Given the description of an element on the screen output the (x, y) to click on. 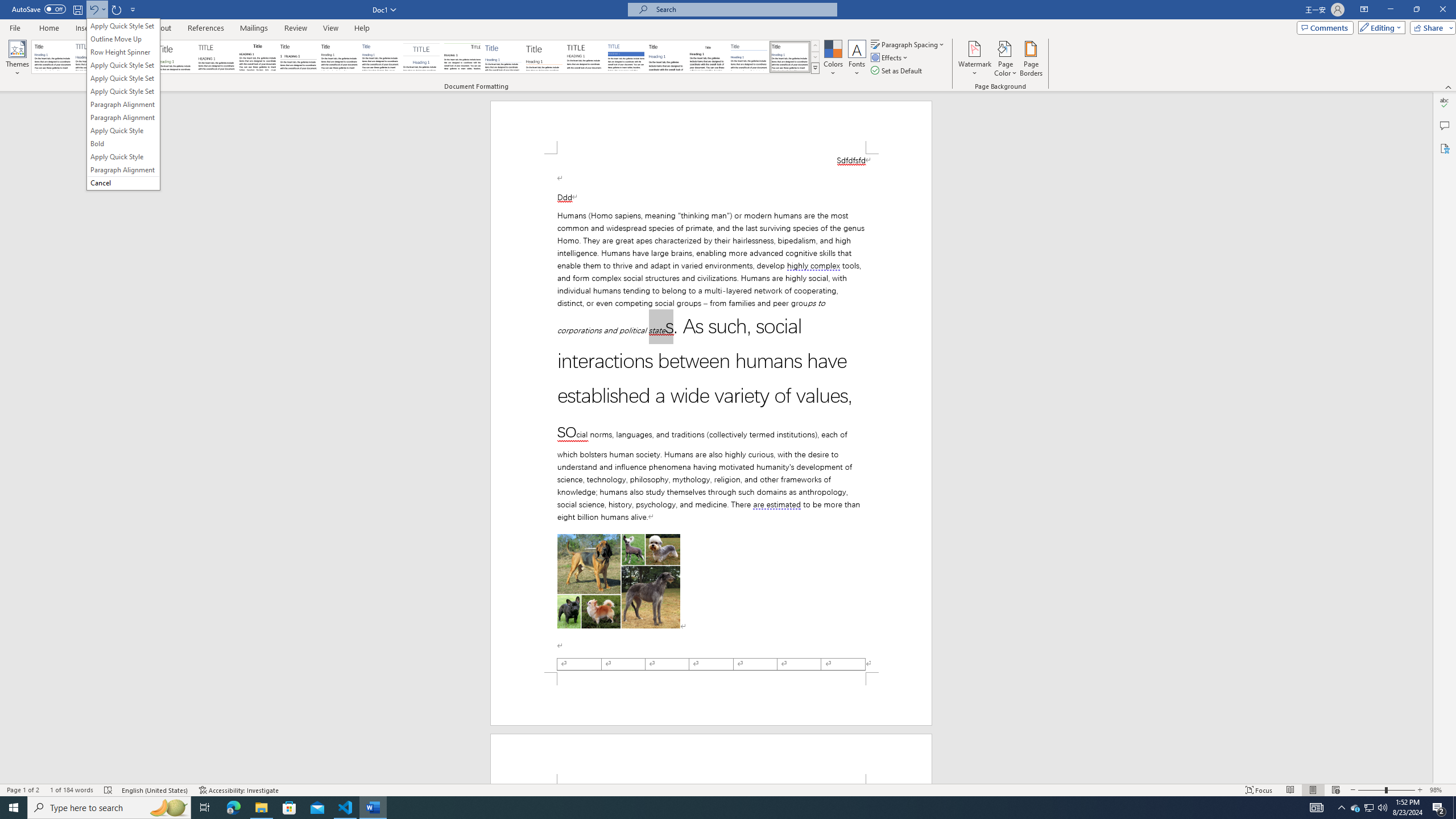
Document (52, 56)
Centered (421, 56)
Effects (890, 56)
Fonts (856, 58)
Page Number Page 1 of 2 (22, 790)
Page 1 content (710, 412)
